Given the description of an element on the screen output the (x, y) to click on. 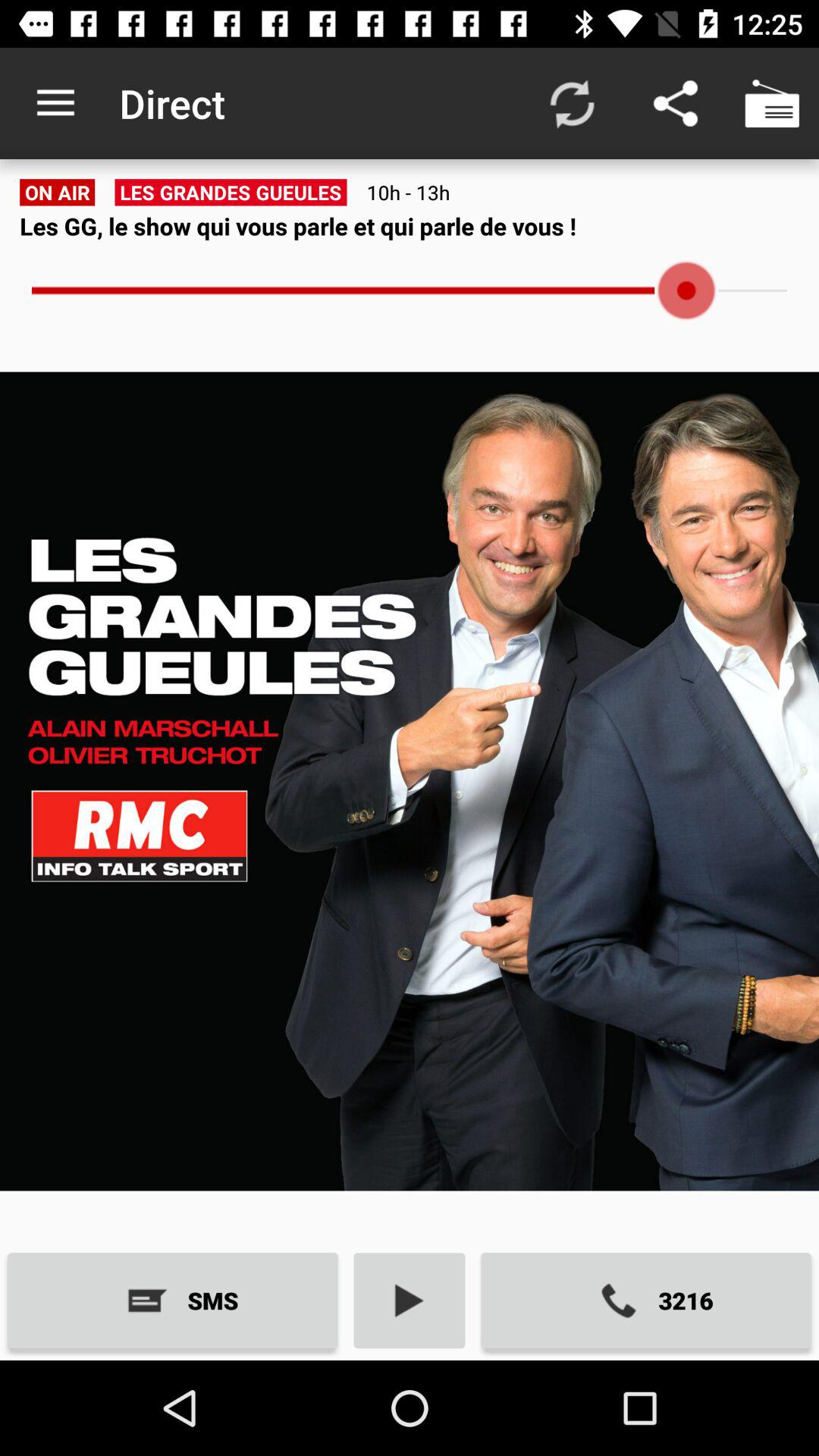
open item to the left of direct app (55, 103)
